Given the description of an element on the screen output the (x, y) to click on. 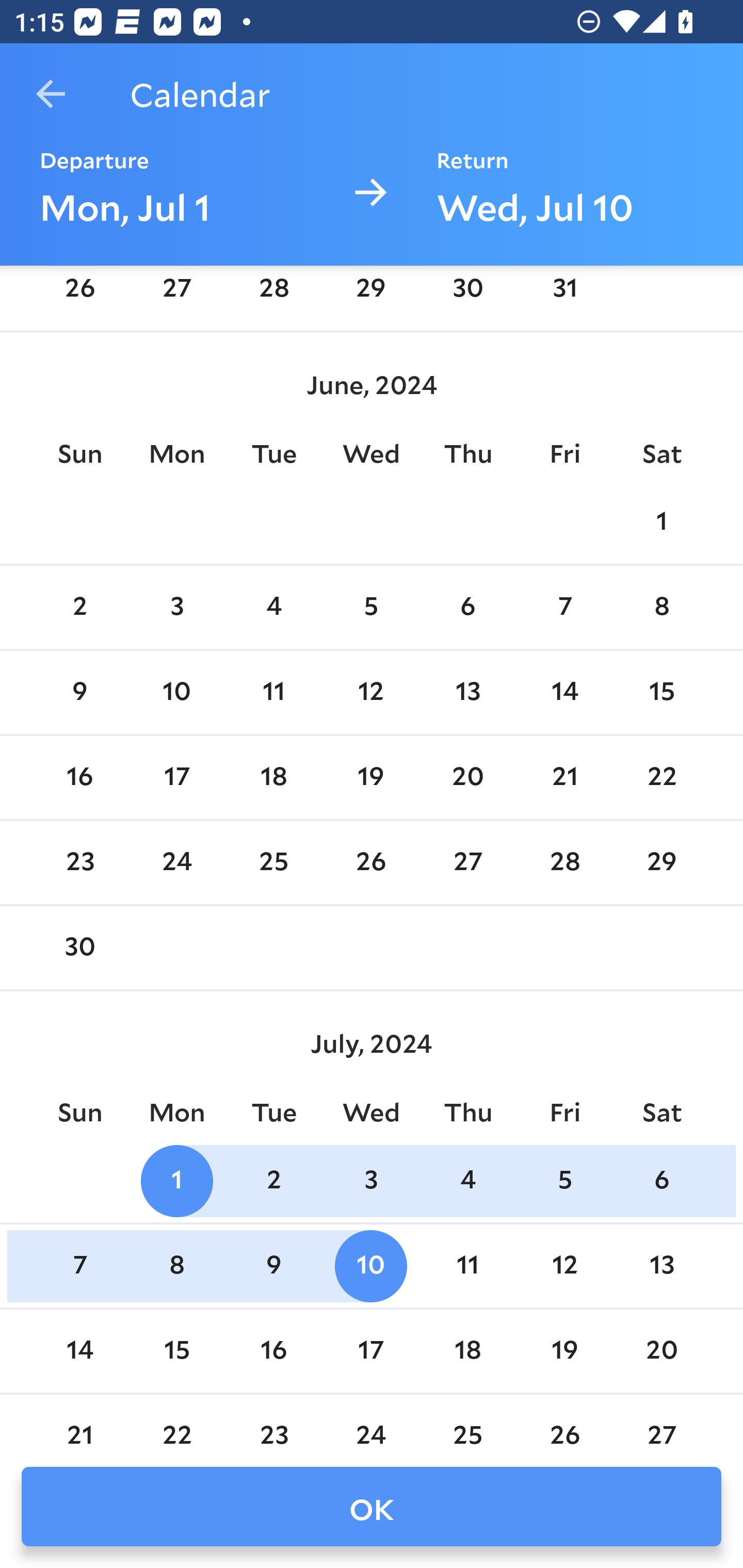
Navigate up (50, 93)
26 (79, 295)
27 (177, 295)
28 (273, 295)
29 (371, 295)
30 (467, 295)
31 (565, 295)
1 (661, 522)
2 (79, 607)
3 (177, 607)
4 (273, 607)
5 (371, 607)
6 (467, 607)
7 (565, 607)
8 (661, 607)
9 (79, 692)
10 (177, 692)
11 (273, 692)
12 (371, 692)
13 (467, 692)
14 (565, 692)
15 (661, 692)
16 (79, 777)
17 (177, 777)
18 (273, 777)
19 (371, 777)
20 (467, 777)
21 (565, 777)
22 (661, 777)
23 (79, 862)
24 (177, 862)
25 (273, 862)
26 (371, 862)
27 (467, 862)
28 (565, 862)
29 (661, 862)
30 (79, 948)
1 (177, 1180)
2 (273, 1180)
3 (371, 1180)
4 (467, 1180)
5 (565, 1180)
6 (661, 1180)
7 (79, 1266)
8 (177, 1266)
9 (273, 1266)
10 (371, 1266)
11 (467, 1266)
12 (565, 1266)
13 (661, 1266)
14 (79, 1351)
15 (177, 1351)
16 (273, 1351)
17 (371, 1351)
18 (467, 1351)
19 (565, 1351)
20 (661, 1351)
21 (79, 1422)
22 (177, 1422)
23 (273, 1422)
24 (371, 1422)
25 (467, 1422)
26 (565, 1422)
27 (661, 1422)
OK (371, 1506)
